Given the description of an element on the screen output the (x, y) to click on. 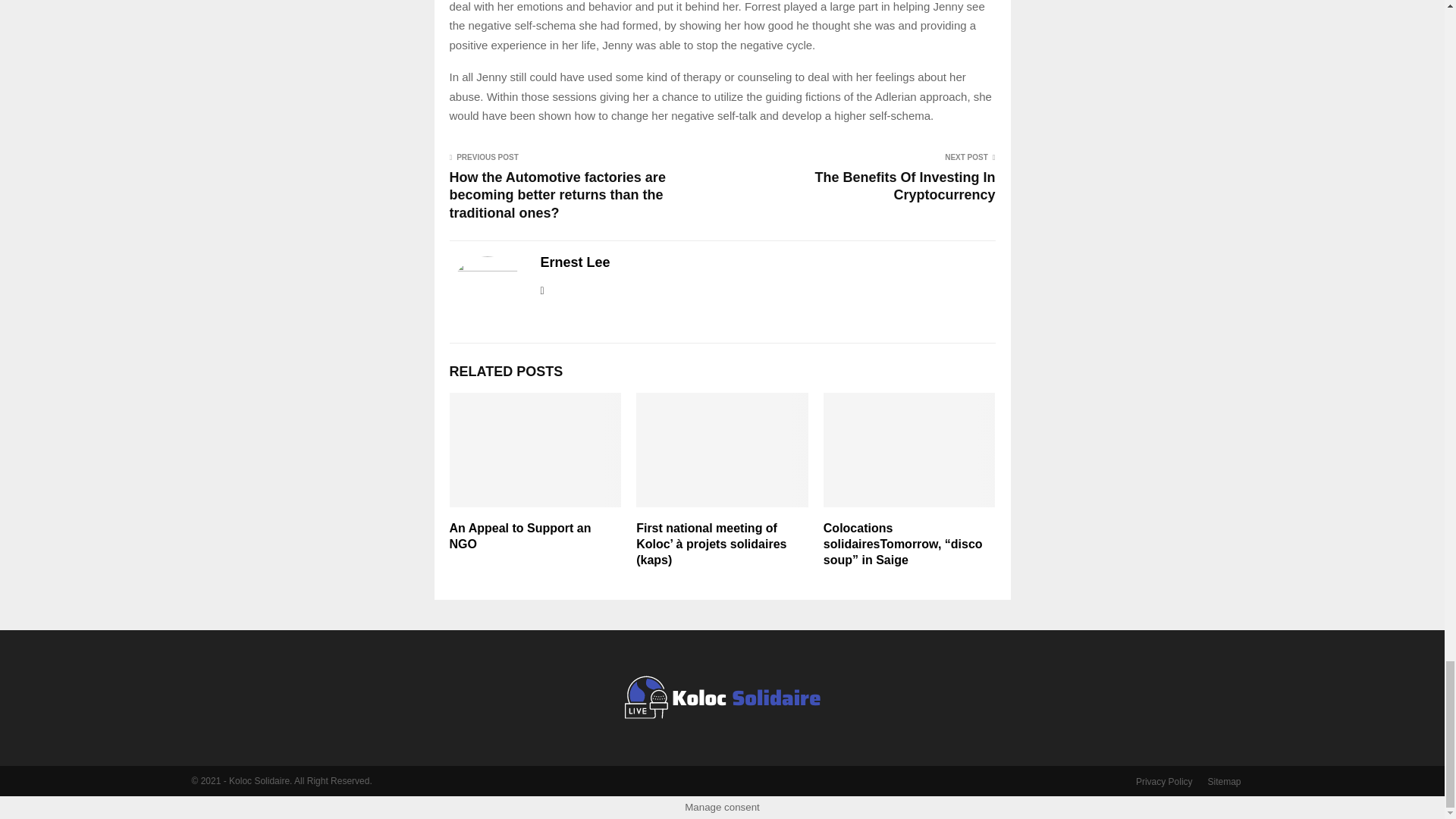
Posts by Ernest Lee (575, 262)
The Benefits Of Investing In Cryptocurrency (903, 185)
An Appeal to Support an NGO (519, 535)
Ernest Lee (575, 262)
